Given the description of an element on the screen output the (x, y) to click on. 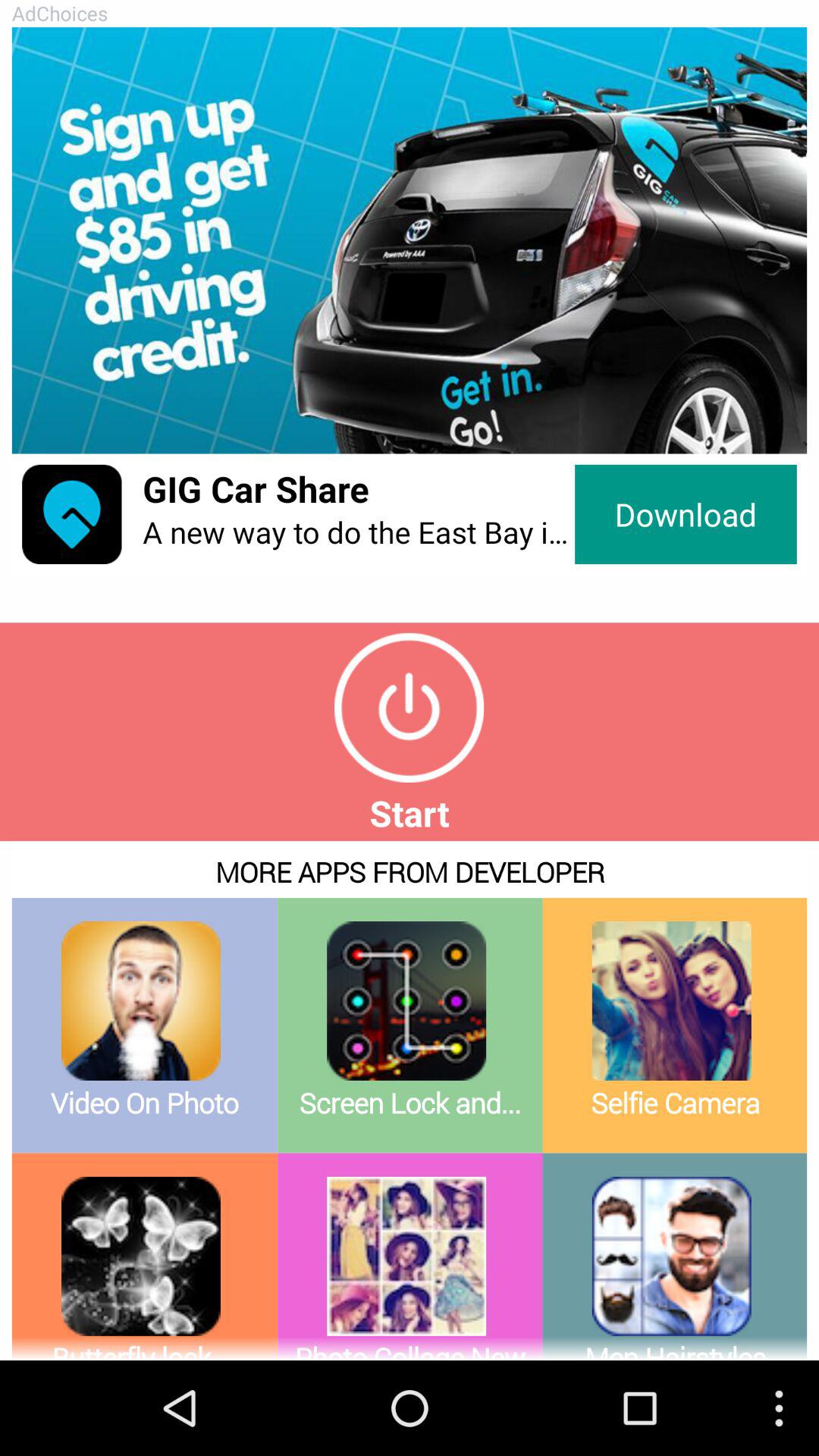
go to link in advertisement (409, 240)
